Given the description of an element on the screen output the (x, y) to click on. 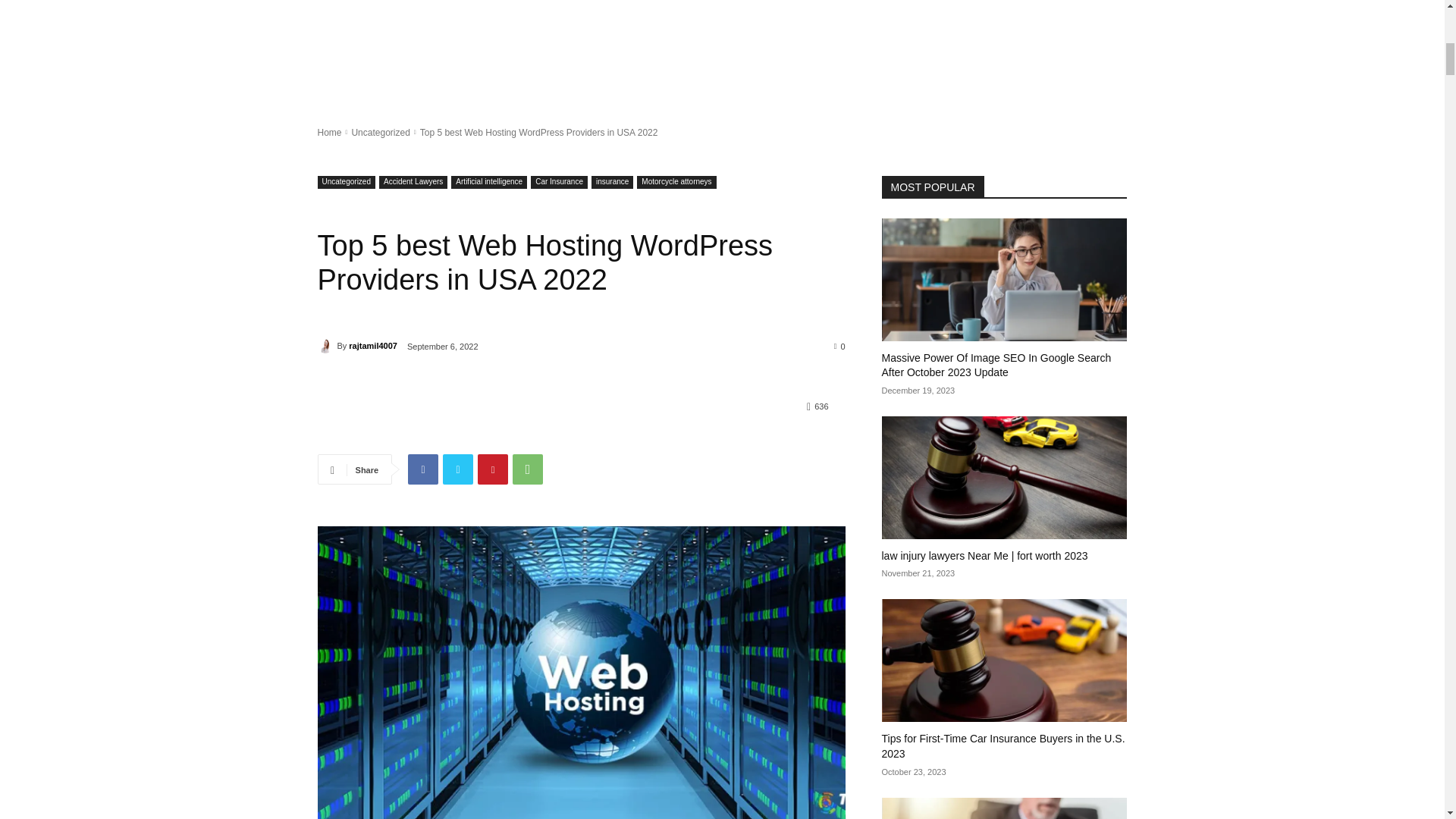
Home (328, 132)
View all posts in Uncategorized (379, 132)
Uncategorized (379, 132)
Accident Lawyers (412, 182)
Twitter (457, 469)
Uncategorized (345, 182)
Advertisement (721, 51)
rajtamil4007 (326, 345)
Facebook (422, 469)
